Given the description of an element on the screen output the (x, y) to click on. 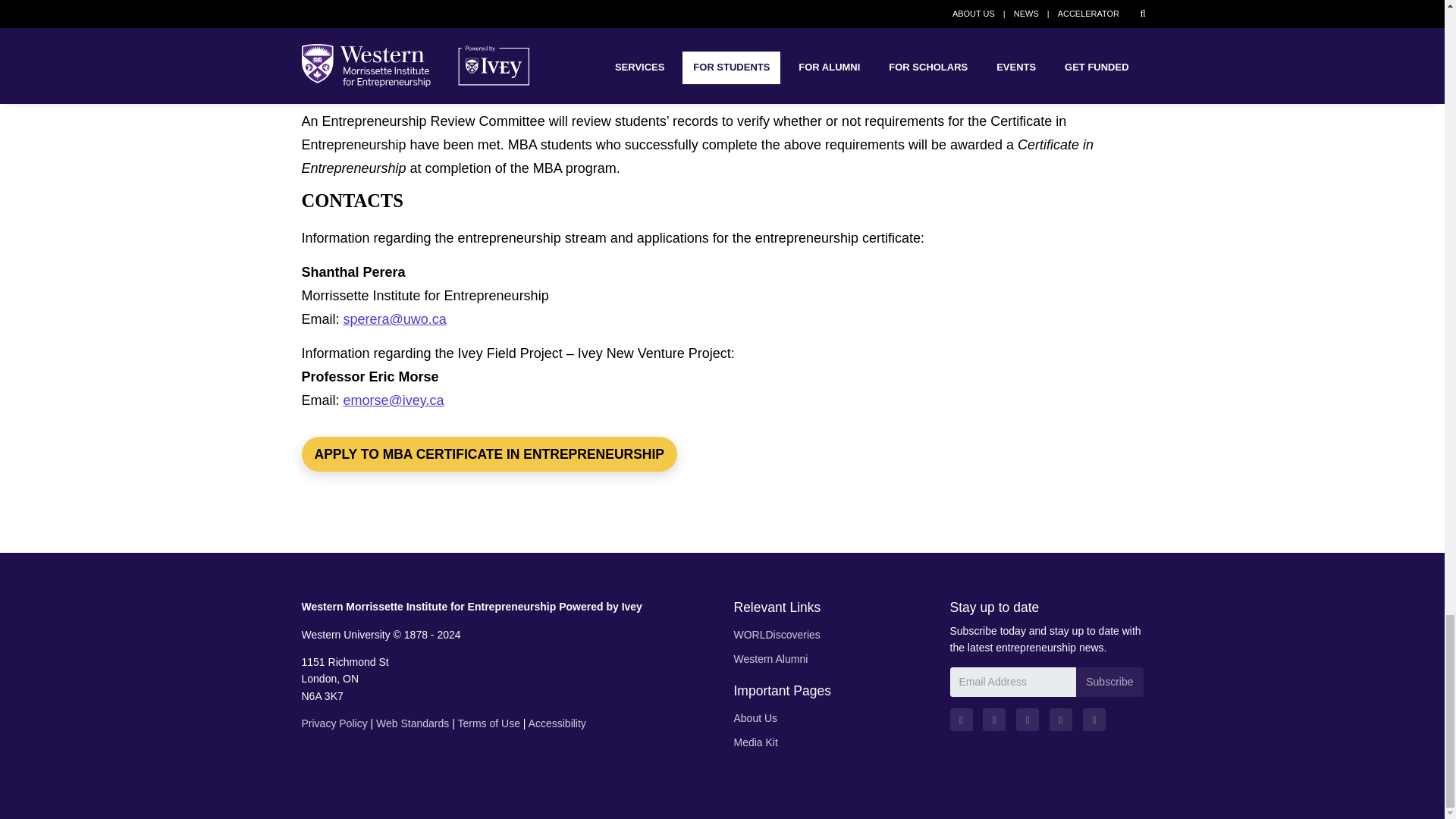
Subscribe (1108, 681)
